Given the description of an element on the screen output the (x, y) to click on. 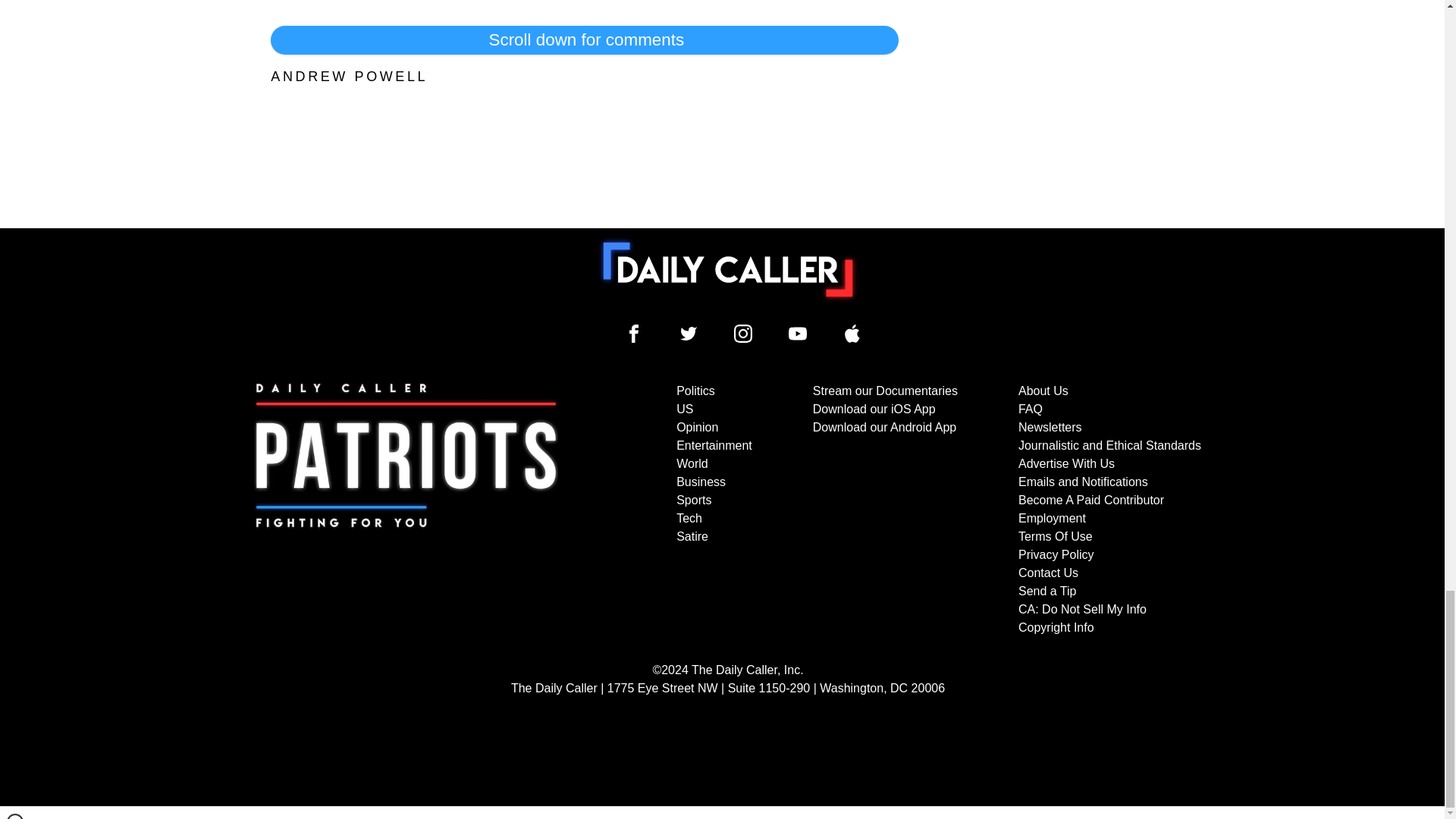
To home page (727, 269)
Daily Caller Facebook (633, 333)
Daily Caller Twitter (688, 333)
Scroll down for comments (584, 39)
Daily Caller Instagram (742, 333)
Daily Caller YouTube (797, 333)
Subscribe to The Daily Caller (405, 509)
Daily Caller YouTube (852, 333)
